Given the description of an element on the screen output the (x, y) to click on. 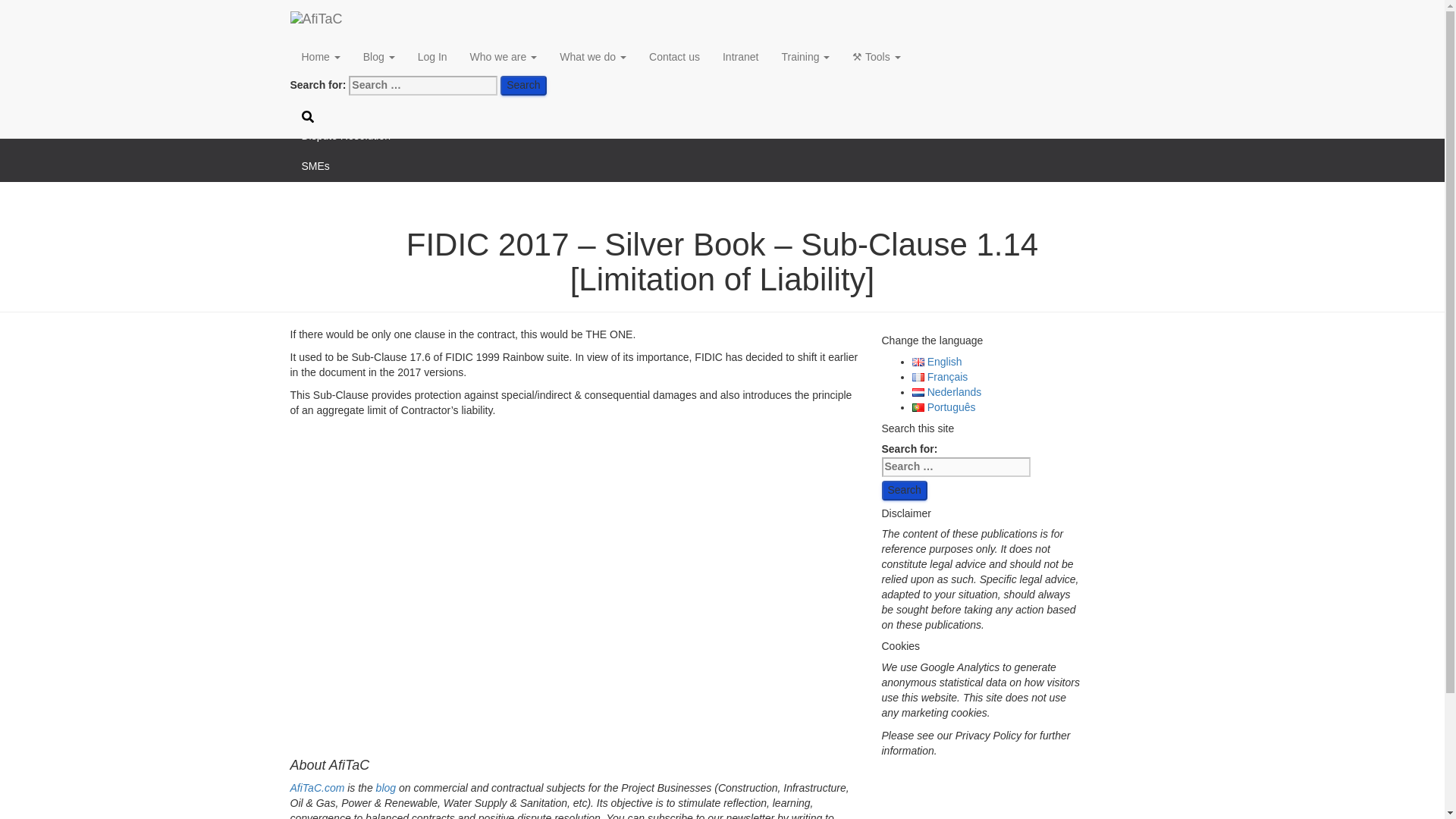
Contract Management (721, 45)
SMEs (721, 166)
Contact us (674, 56)
Blog (379, 56)
Risk Management (721, 75)
Contract Negotiation (721, 15)
What we do (592, 56)
Search (523, 85)
Tendering for Contracts (721, 105)
Search (523, 85)
Blog (379, 56)
Log In (432, 56)
Tendering for Contracts (721, 105)
Contract Management (721, 45)
Who we are (503, 56)
